Given the description of an element on the screen output the (x, y) to click on. 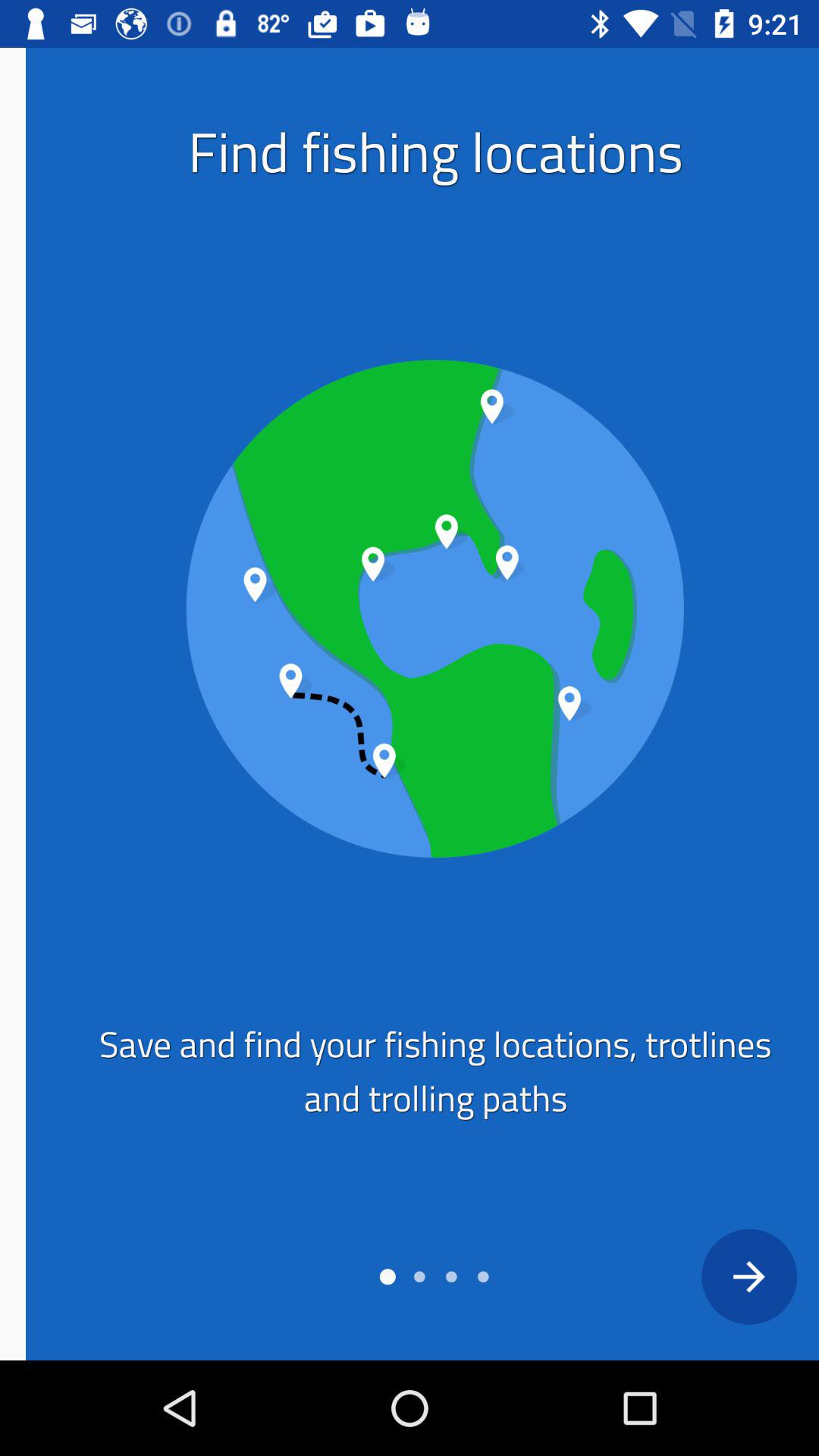
go to next (723, 1276)
